Given the description of an element on the screen output the (x, y) to click on. 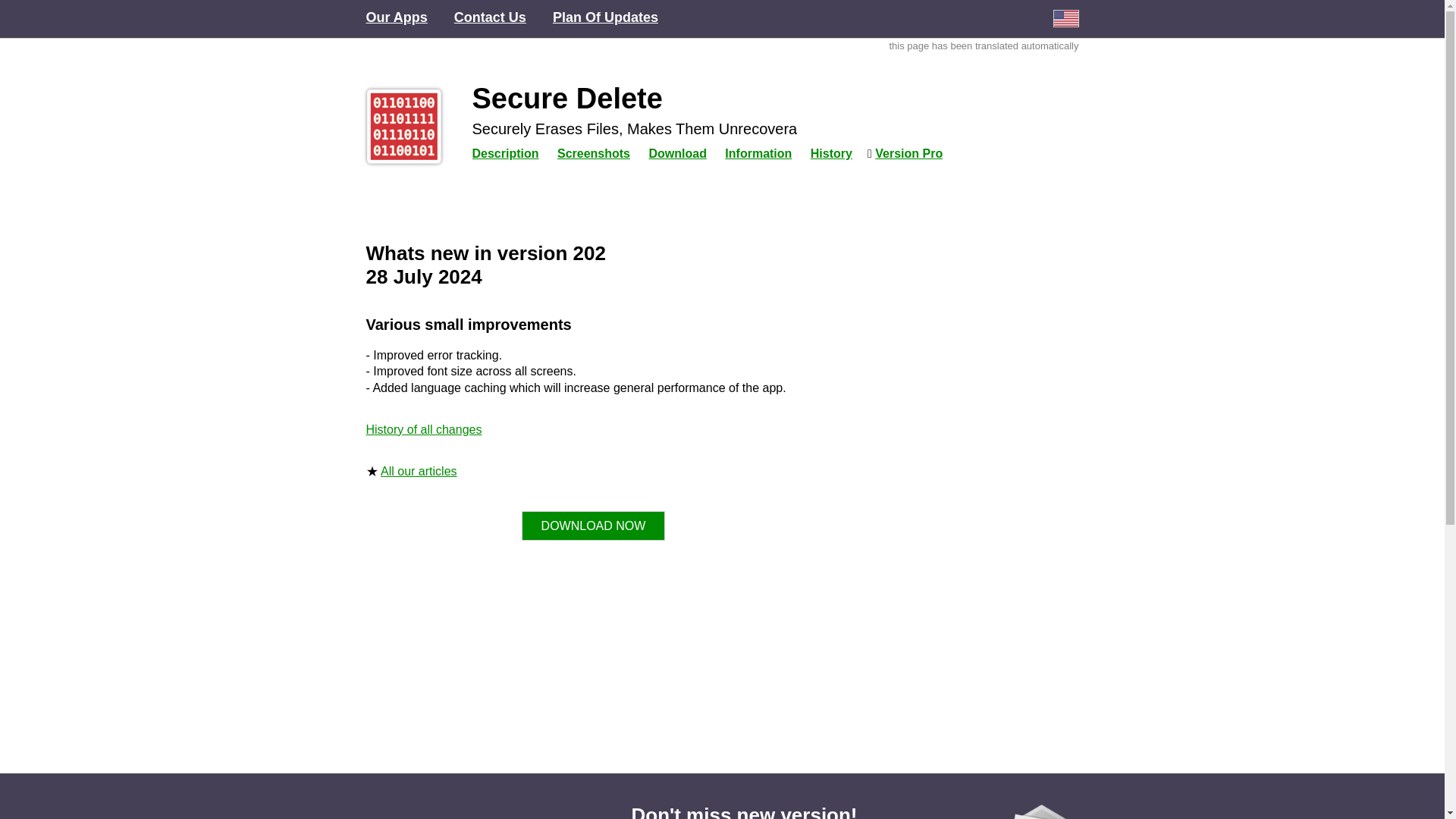
Description (504, 153)
Information (758, 153)
History (830, 153)
Download (676, 153)
Plan Of Updates (605, 17)
History of all changes (423, 429)
Our Apps (395, 17)
All our articles (418, 471)
Contact Us (489, 17)
Screenshots (593, 153)
